Given the description of an element on the screen output the (x, y) to click on. 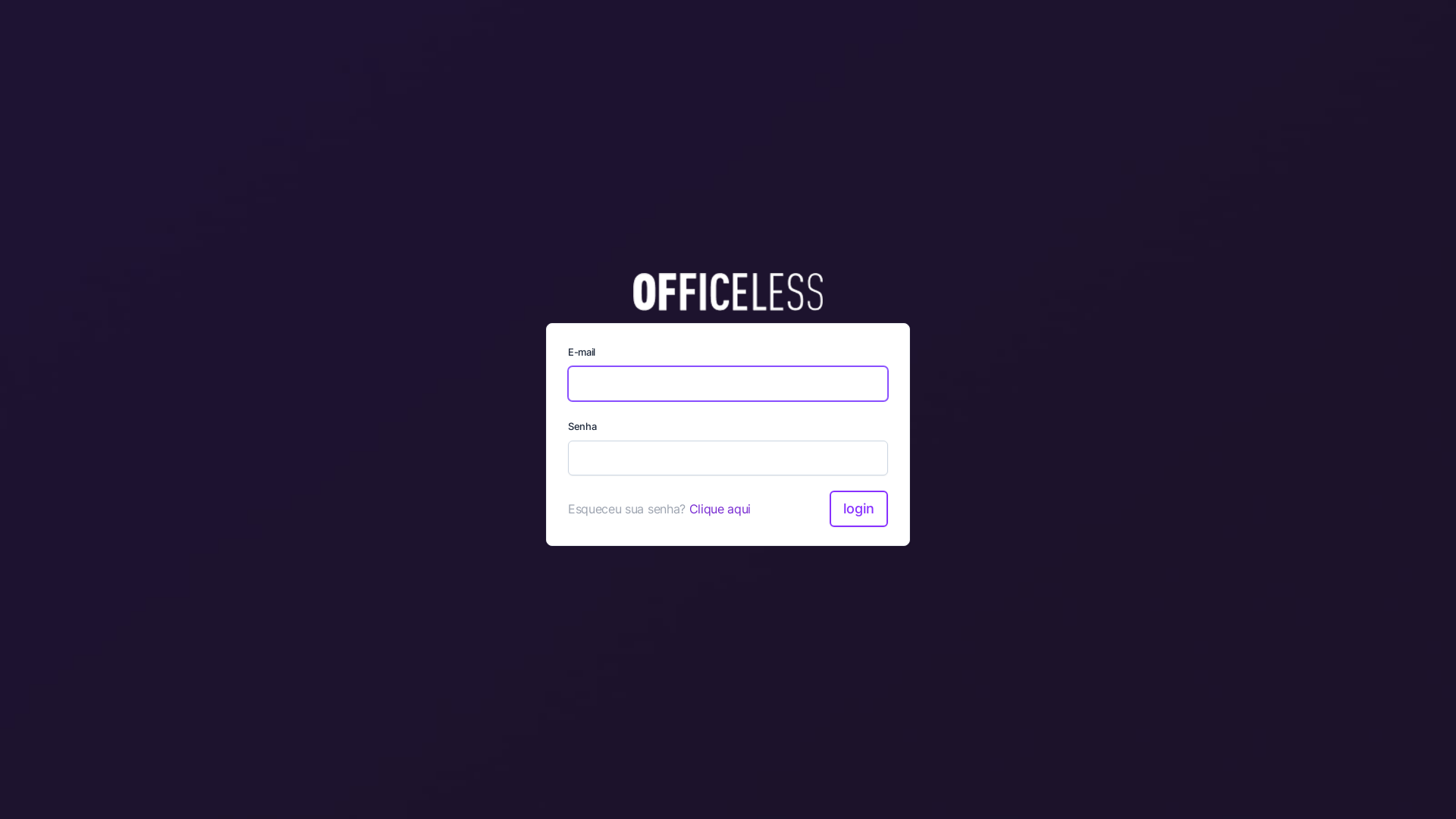
Login Element type: text (858, 508)
Clique aqui Element type: text (719, 508)
